Given the description of an element on the screen output the (x, y) to click on. 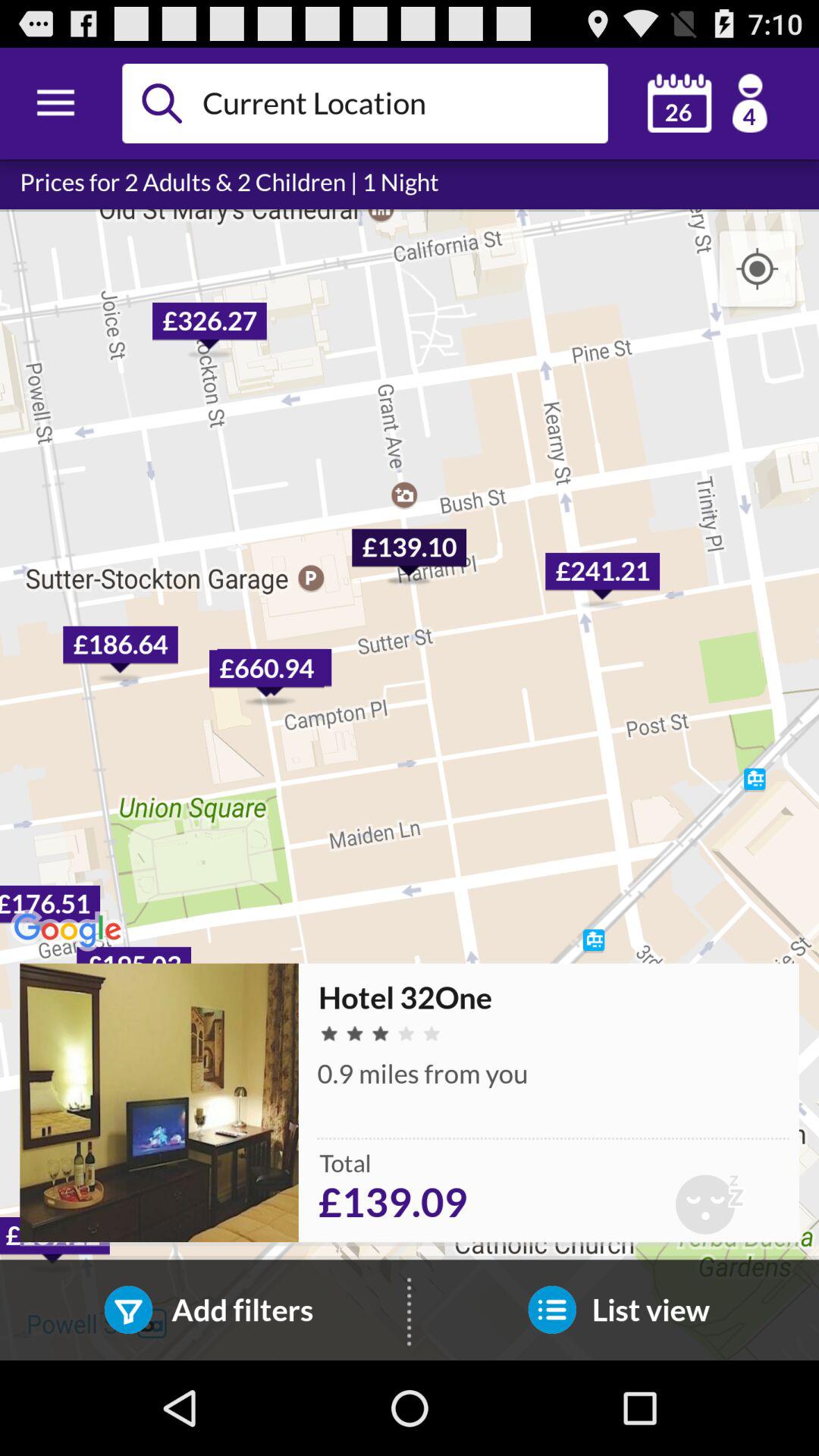
space to enter the current location (399, 103)
